Given the description of an element on the screen output the (x, y) to click on. 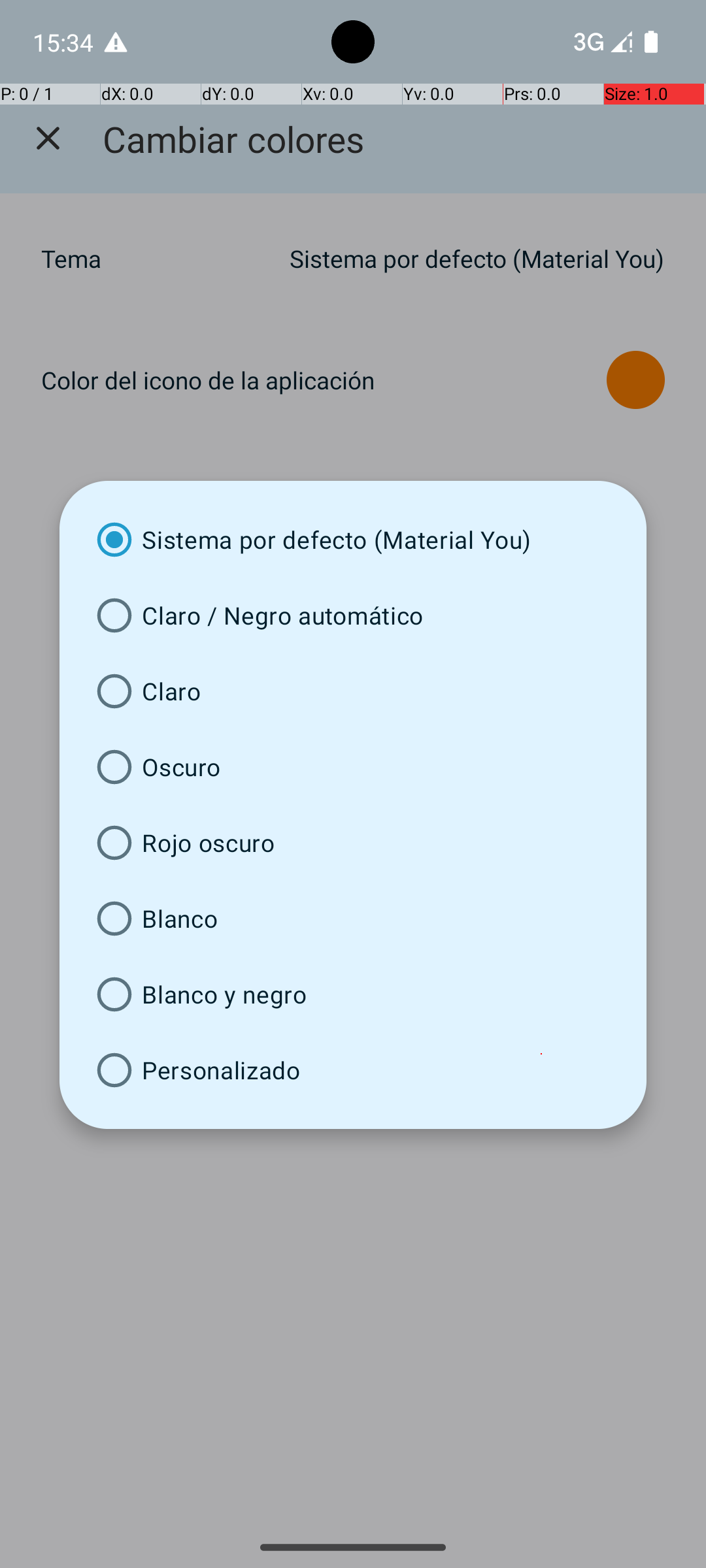
Sistema por defecto (Material You) Element type: android.widget.RadioButton (352, 539)
Claro / Negro automático Element type: android.widget.RadioButton (352, 615)
Claro Element type: android.widget.RadioButton (352, 691)
Oscuro Element type: android.widget.RadioButton (352, 766)
Rojo oscuro Element type: android.widget.RadioButton (352, 842)
Blanco Element type: android.widget.RadioButton (352, 918)
Blanco y negro Element type: android.widget.RadioButton (352, 994)
Personalizado Element type: android.widget.RadioButton (352, 1070)
